Given the description of an element on the screen output the (x, y) to click on. 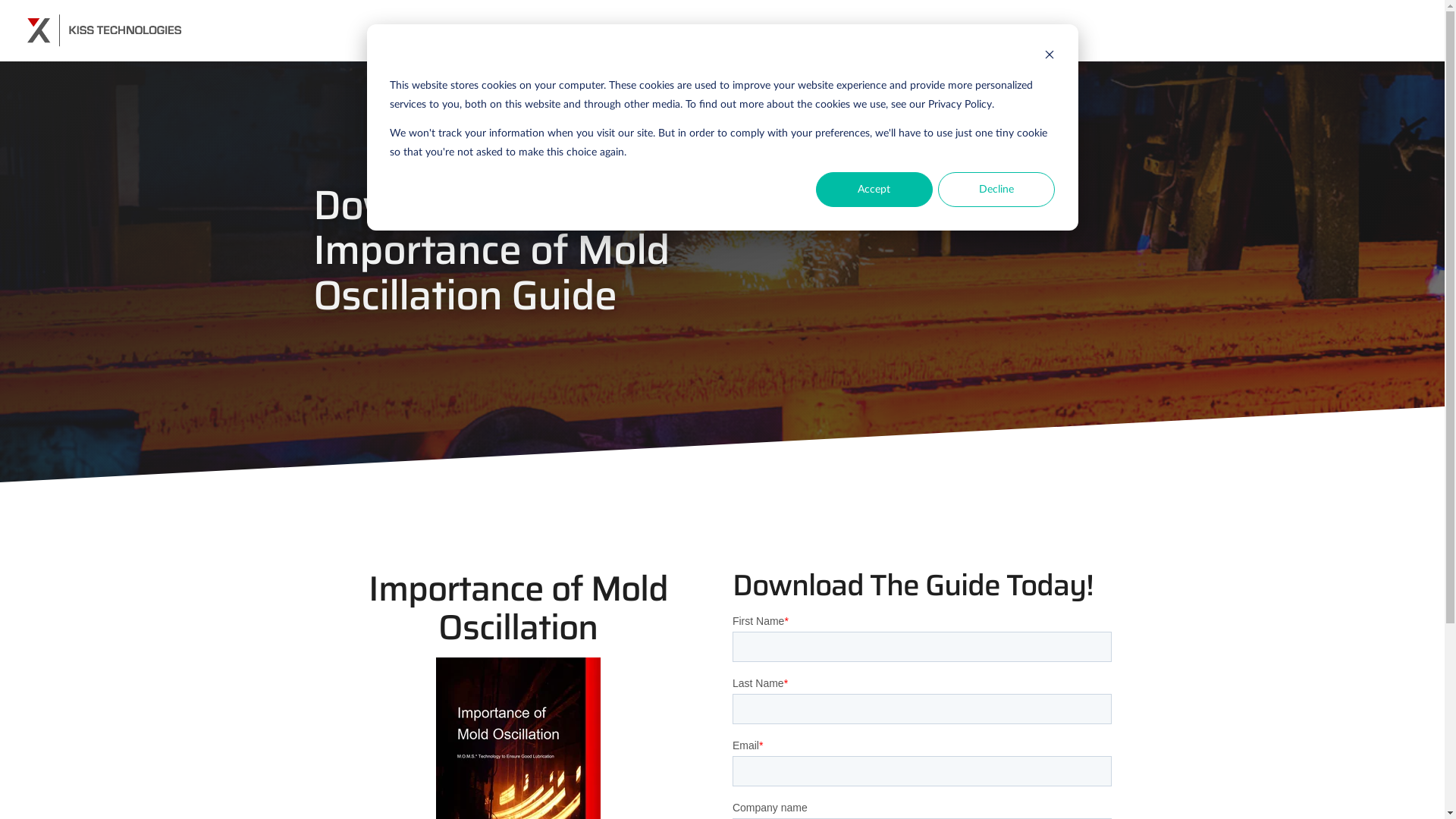
Decline Element type: text (996, 189)
Accept Element type: text (873, 189)
